Given the description of an element on the screen output the (x, y) to click on. 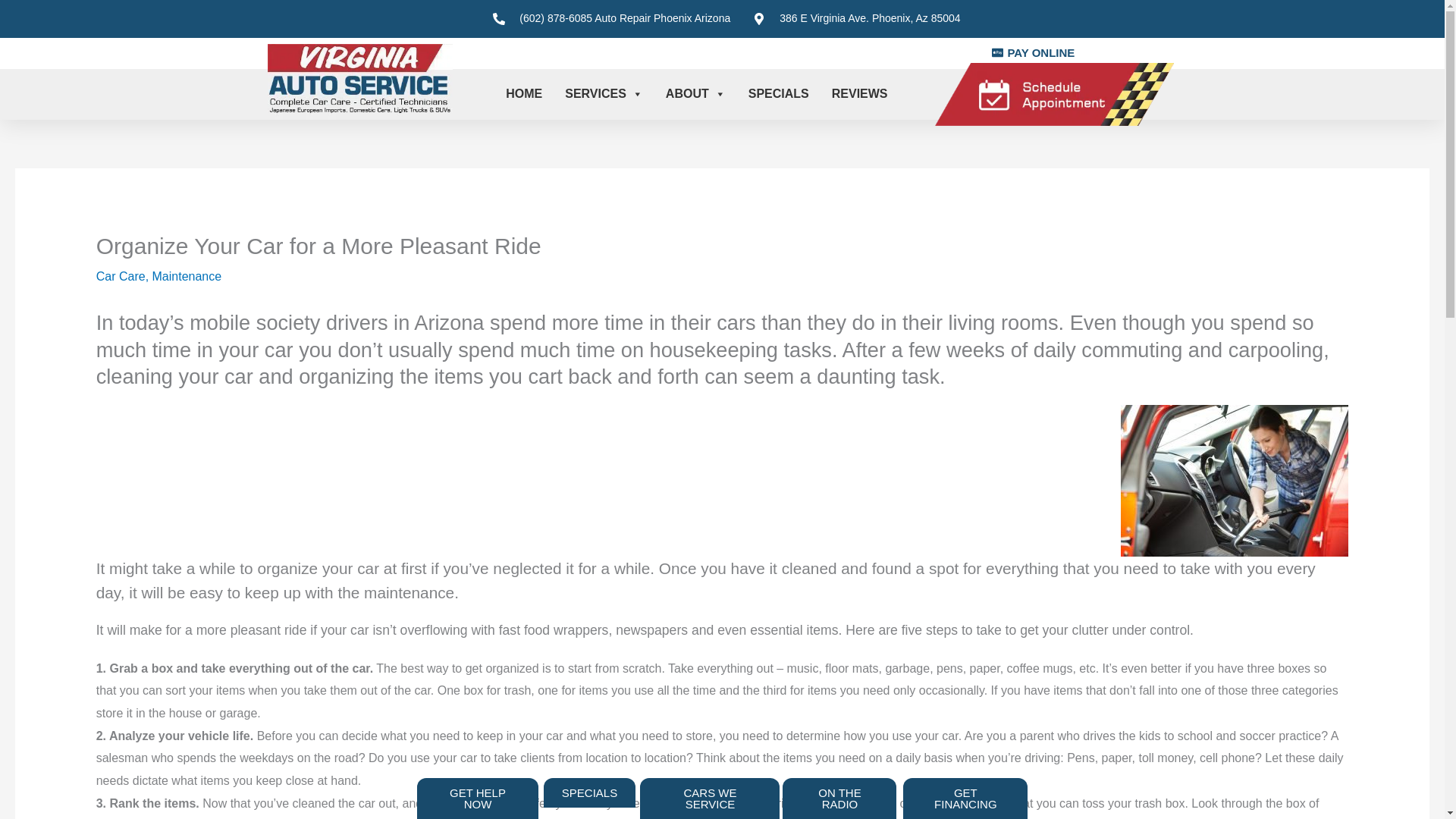
PAY ONLINE (1033, 52)
